Given the description of an element on the screen output the (x, y) to click on. 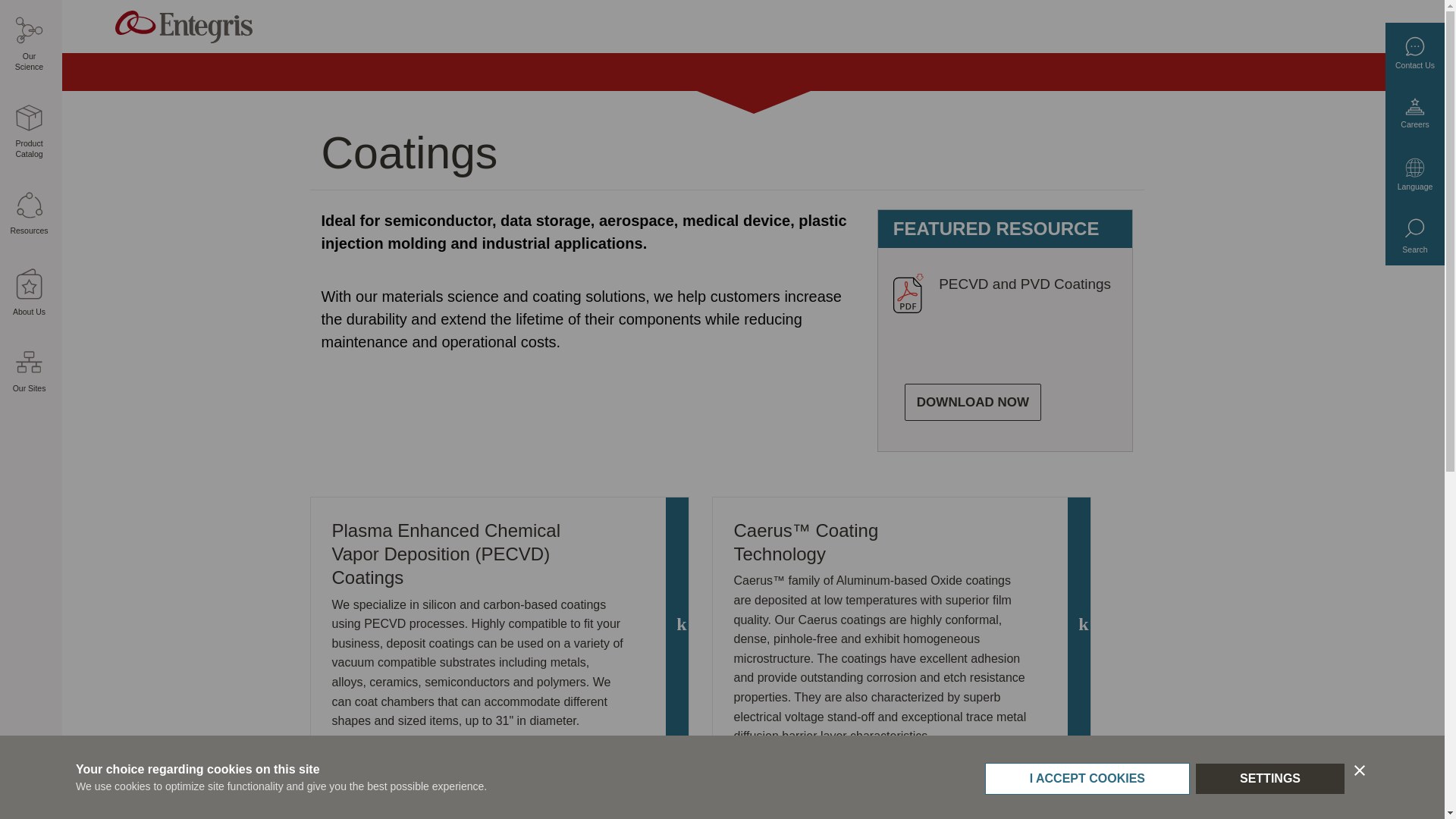
Logo (183, 22)
More (31, 782)
SETTINGS (1269, 798)
Our Sites (28, 370)
Logo (183, 26)
About Us (28, 292)
I ACCEPT COOKIES (1087, 805)
Resources (28, 213)
